Given the description of an element on the screen output the (x, y) to click on. 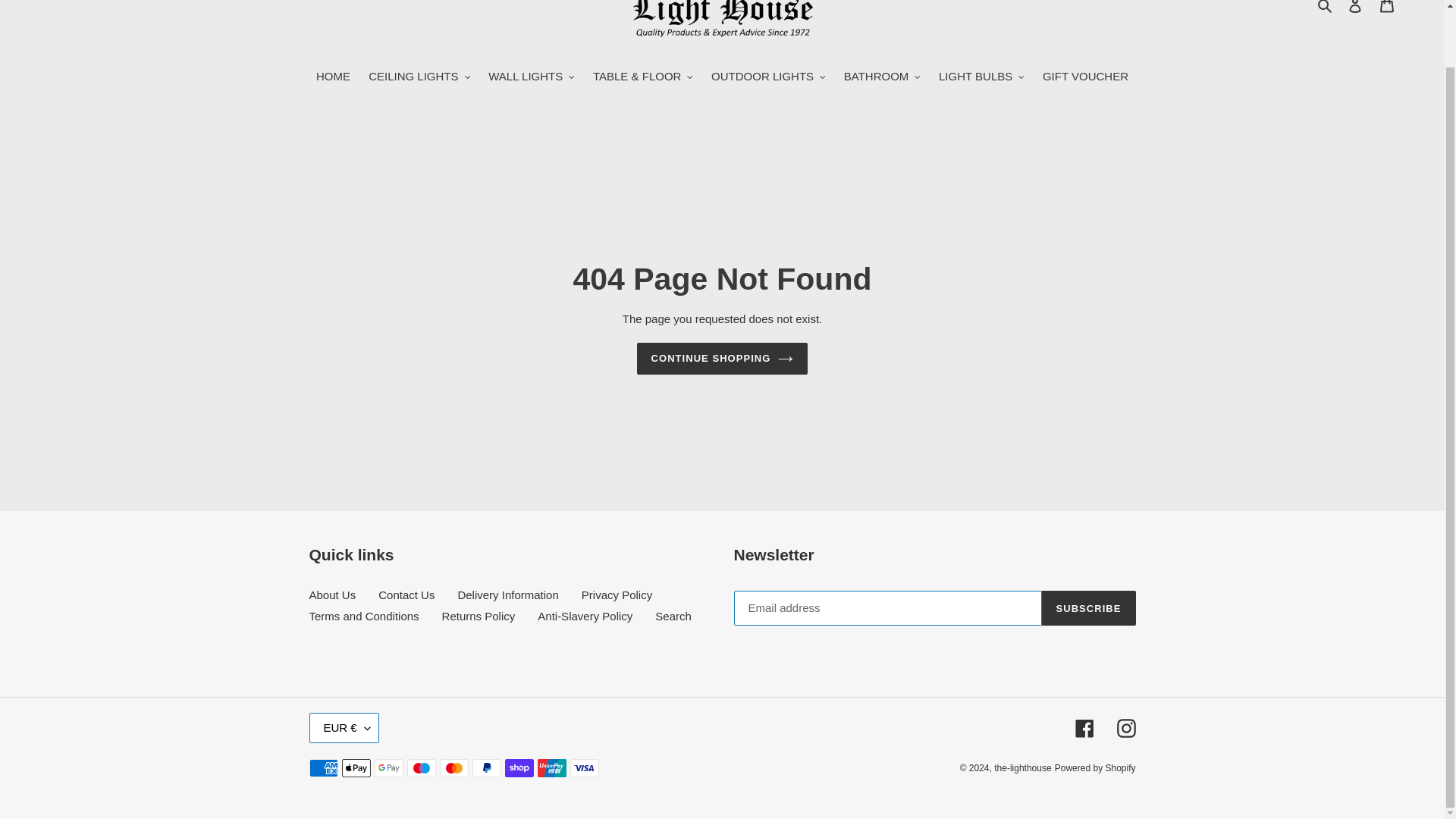
Log in (1355, 10)
Search (1326, 7)
Cart (1387, 10)
